Given the description of an element on the screen output the (x, y) to click on. 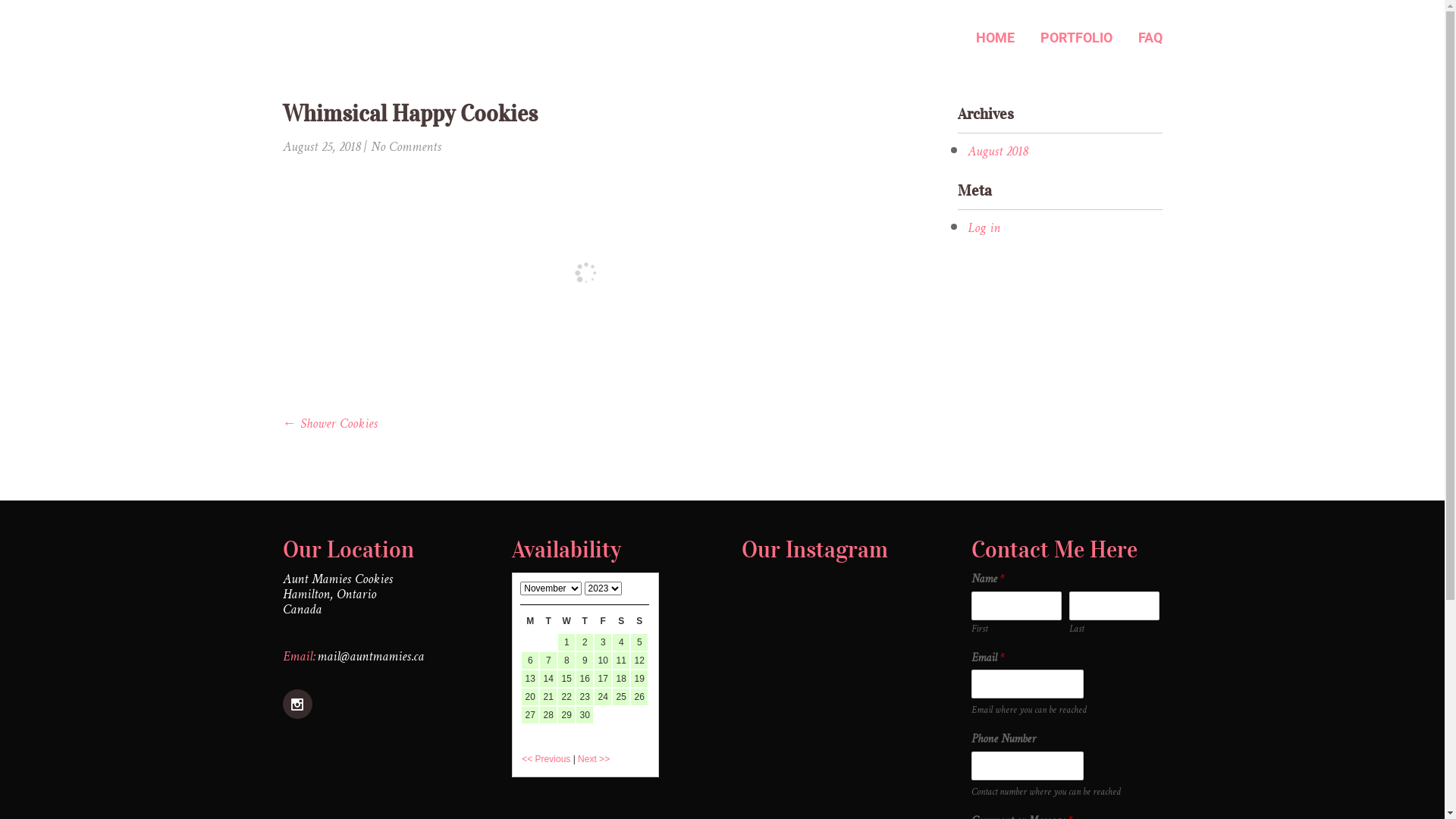
HOME Element type: text (995, 37)
August 2018 Element type: text (997, 152)
Next >> Element type: text (593, 758)
<< Previous Element type: text (545, 758)
mail@auntmamies.ca Element type: text (369, 657)
PORTFOLIO Element type: text (1075, 37)
FAQ Element type: text (1144, 37)
Instagram Element type: hover (298, 715)
Log in Element type: text (983, 228)
No Comments Element type: text (405, 147)
